Given the description of an element on the screen output the (x, y) to click on. 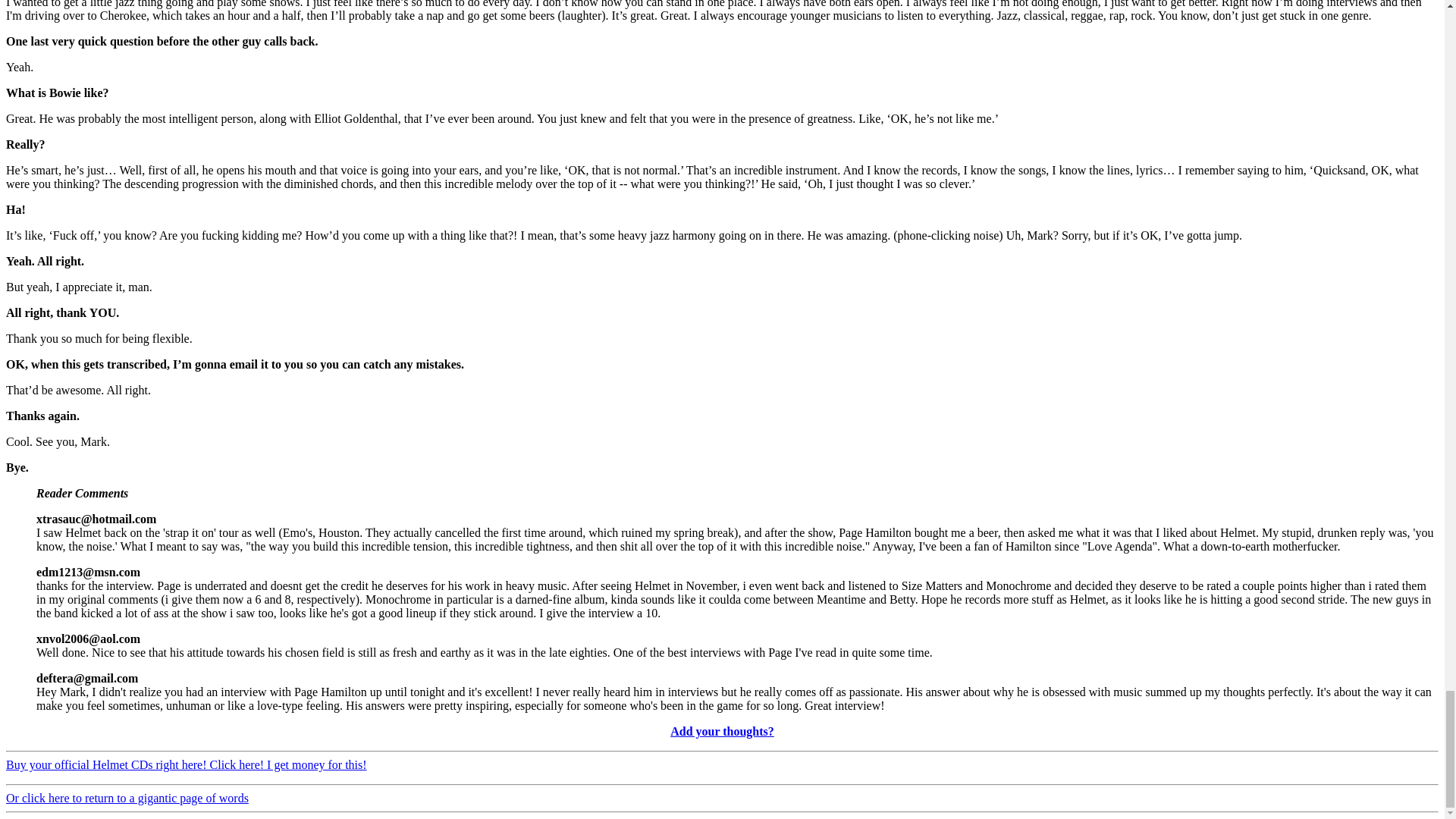
Add your thoughts? (721, 730)
Or click here to return to a gigantic page of words (126, 797)
